Given the description of an element on the screen output the (x, y) to click on. 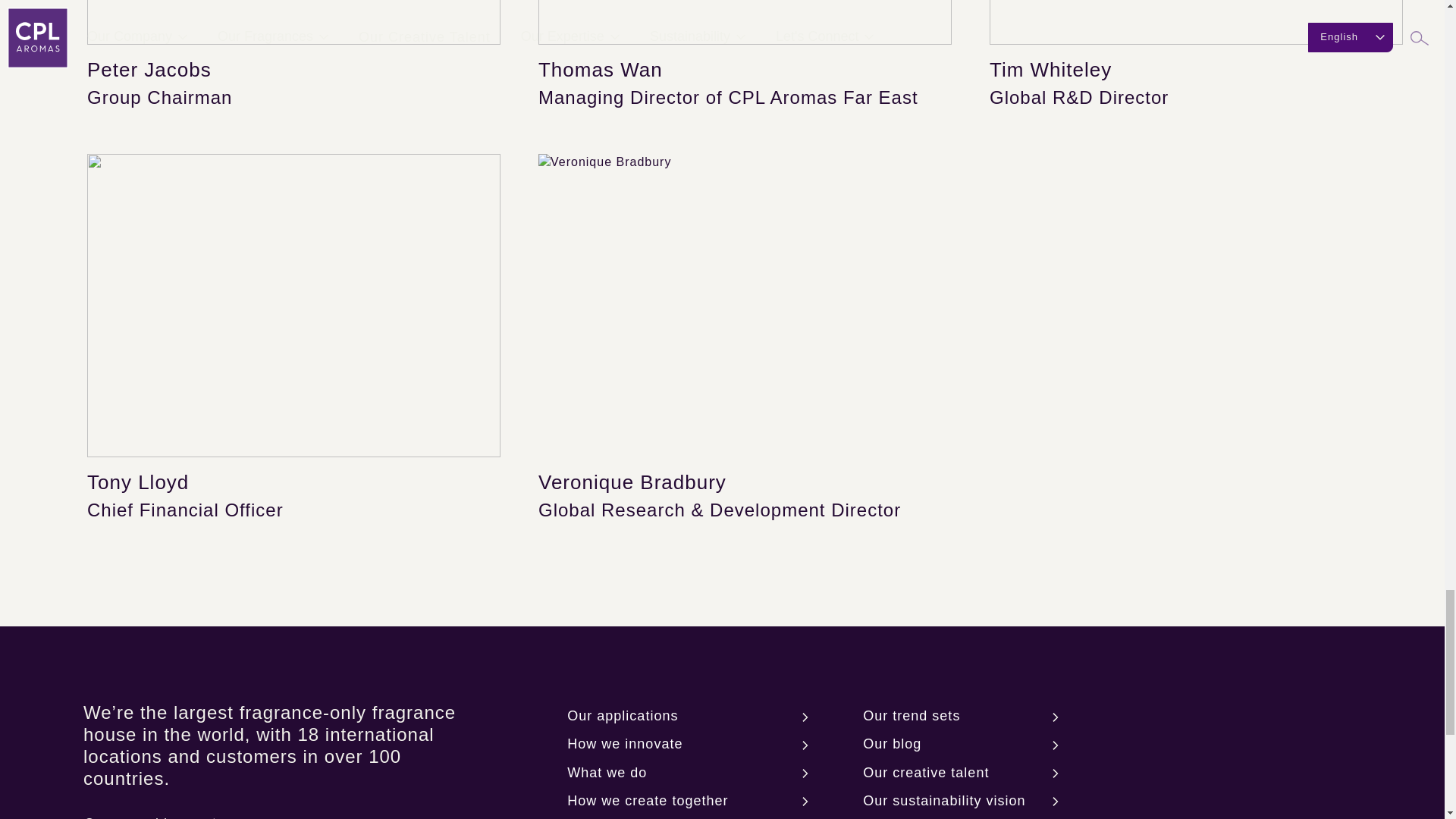
Connect with us (148, 810)
